Given the description of an element on the screen output the (x, y) to click on. 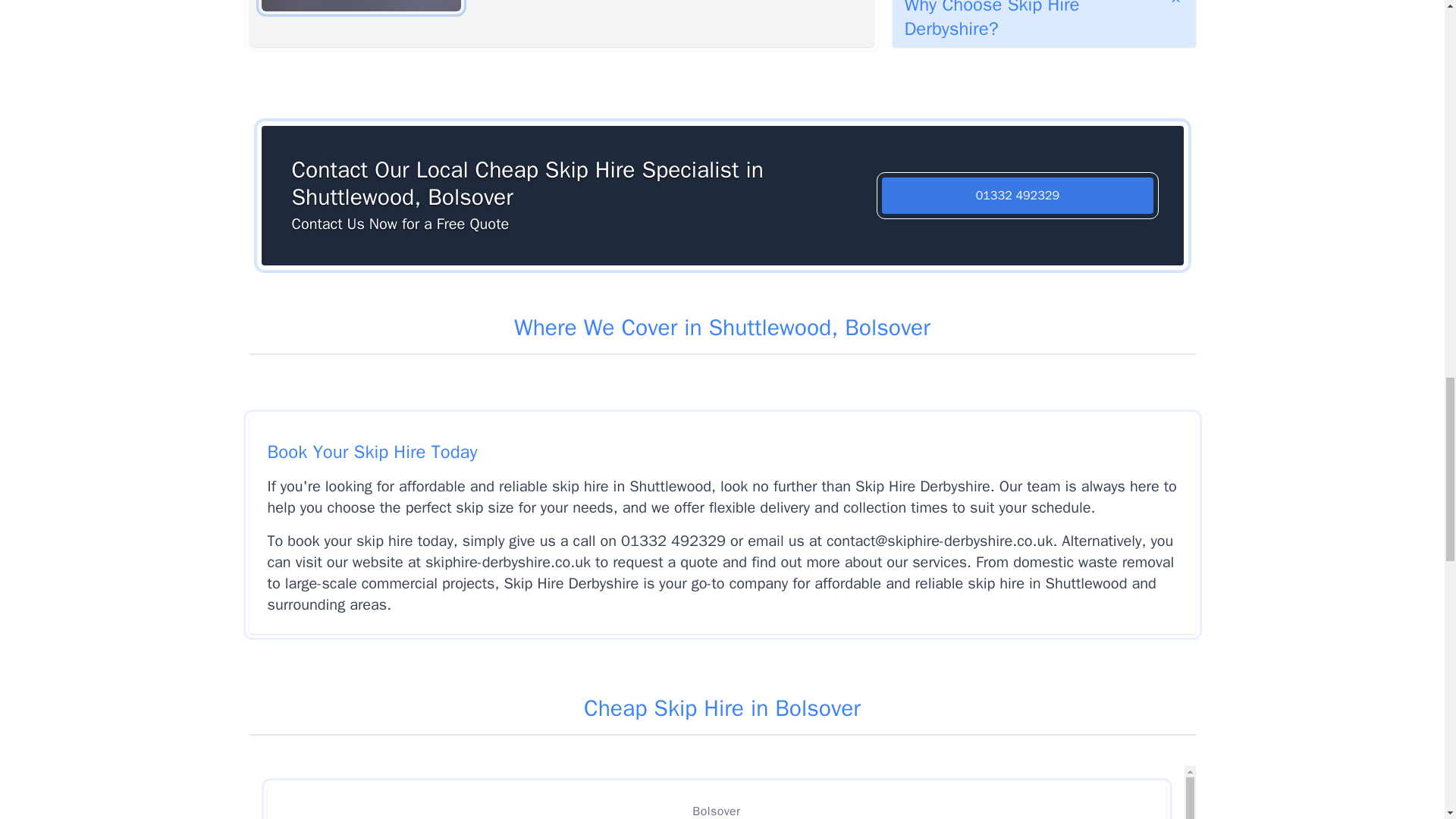
Why Choose Skip Hire Derbyshire? (1043, 23)
01332 492329 (1017, 195)
Bolsover (716, 801)
